Given the description of an element on the screen output the (x, y) to click on. 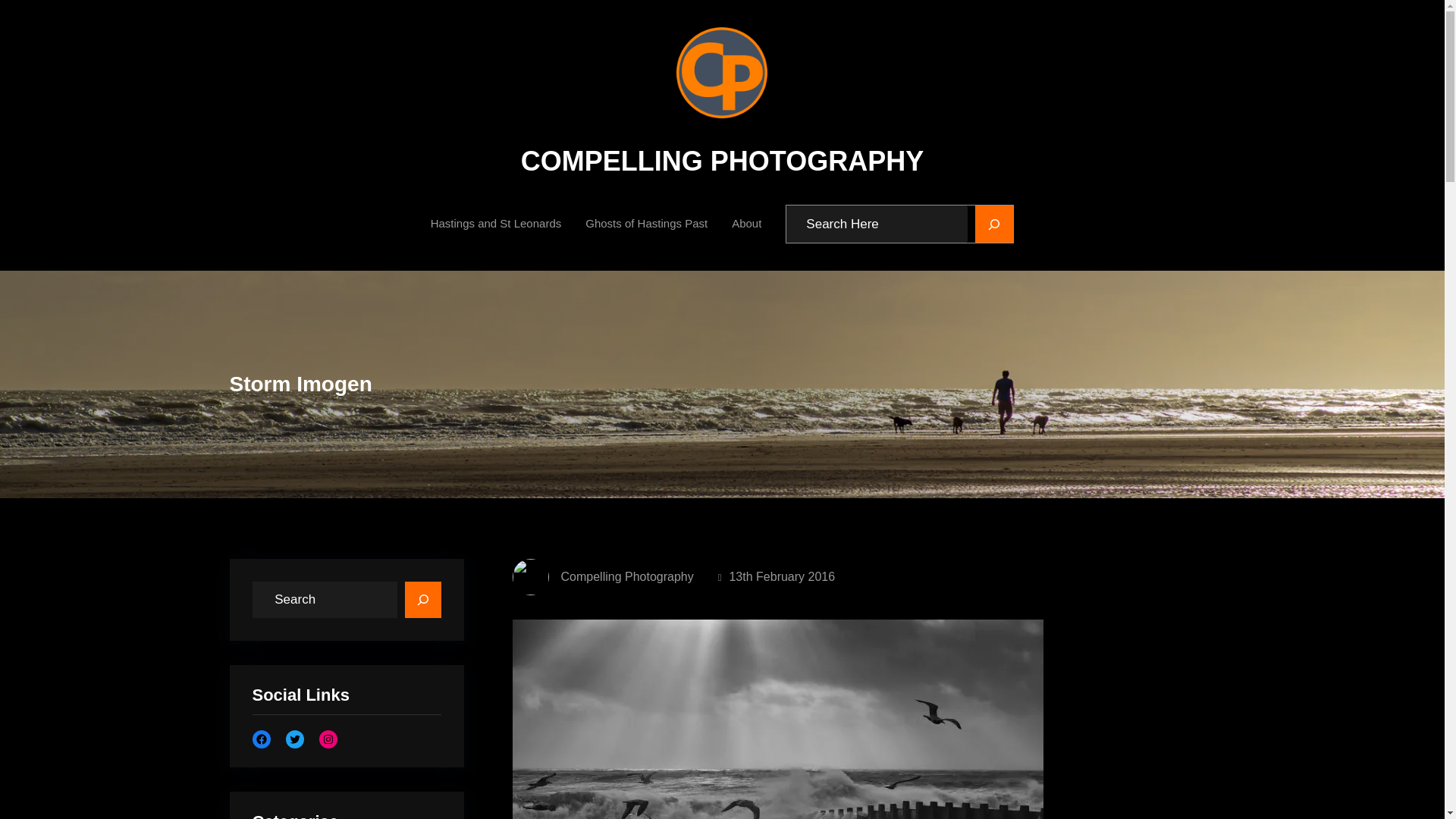
Twitter (293, 760)
Facebook (260, 762)
COMPELLING PHOTOGRAPHY (722, 162)
Ghosts of Hastings Past (646, 223)
About (746, 223)
Instagram (327, 756)
Hastings and St Leonards (496, 223)
